Given the description of an element on the screen output the (x, y) to click on. 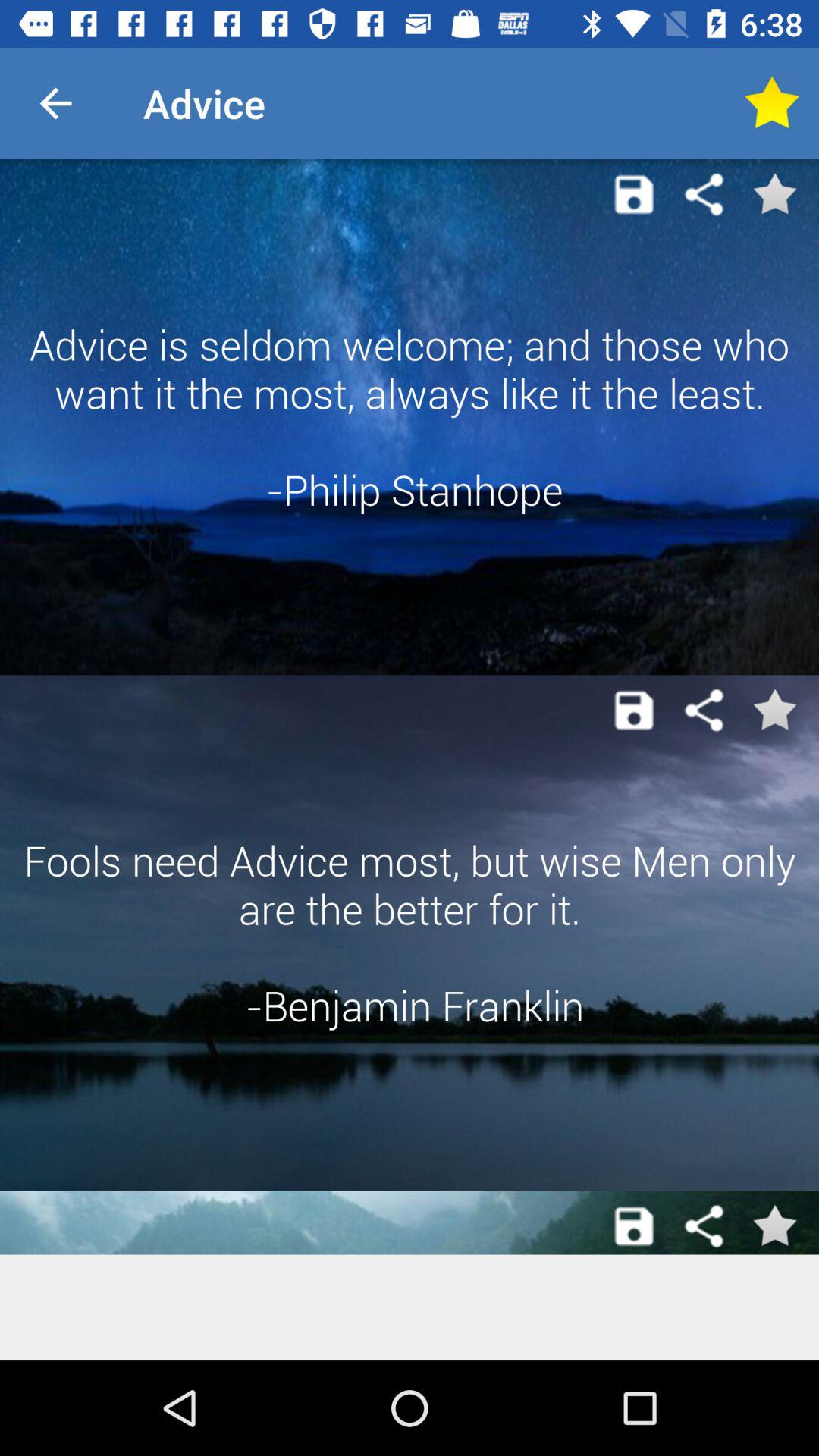
save item (634, 194)
